Given the description of an element on the screen output the (x, y) to click on. 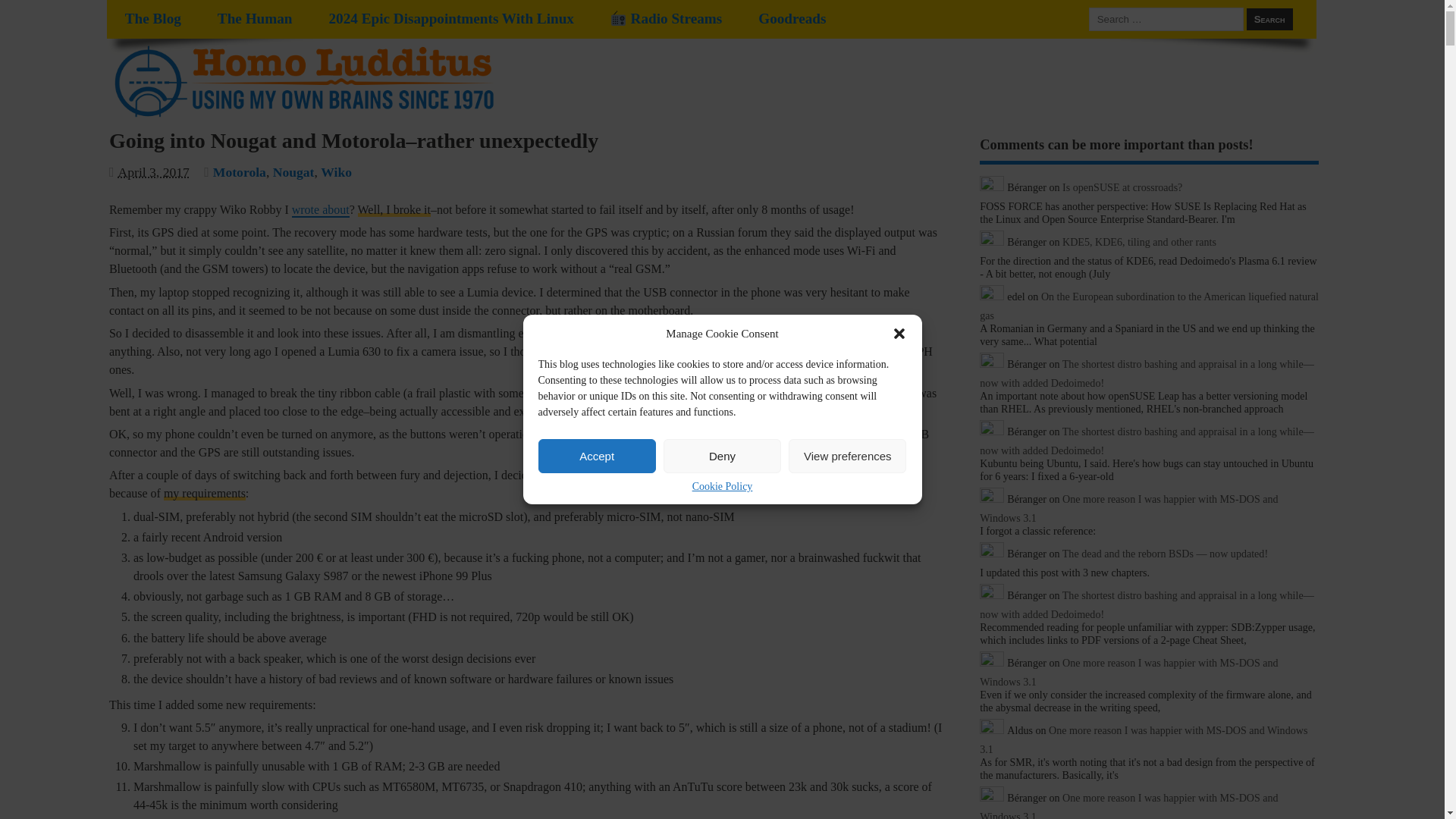
Deny (721, 455)
Search (1269, 19)
Search for: (1166, 18)
Accept (597, 455)
Wiko (336, 171)
View preferences (847, 455)
Radio Streams (665, 19)
The Human (255, 19)
2024 Epic Disappointments With Linux (450, 19)
Motorola (239, 171)
Nougat (293, 171)
The Blog (152, 19)
Search (1269, 19)
Search (1269, 19)
wrote about (320, 210)
